Given the description of an element on the screen output the (x, y) to click on. 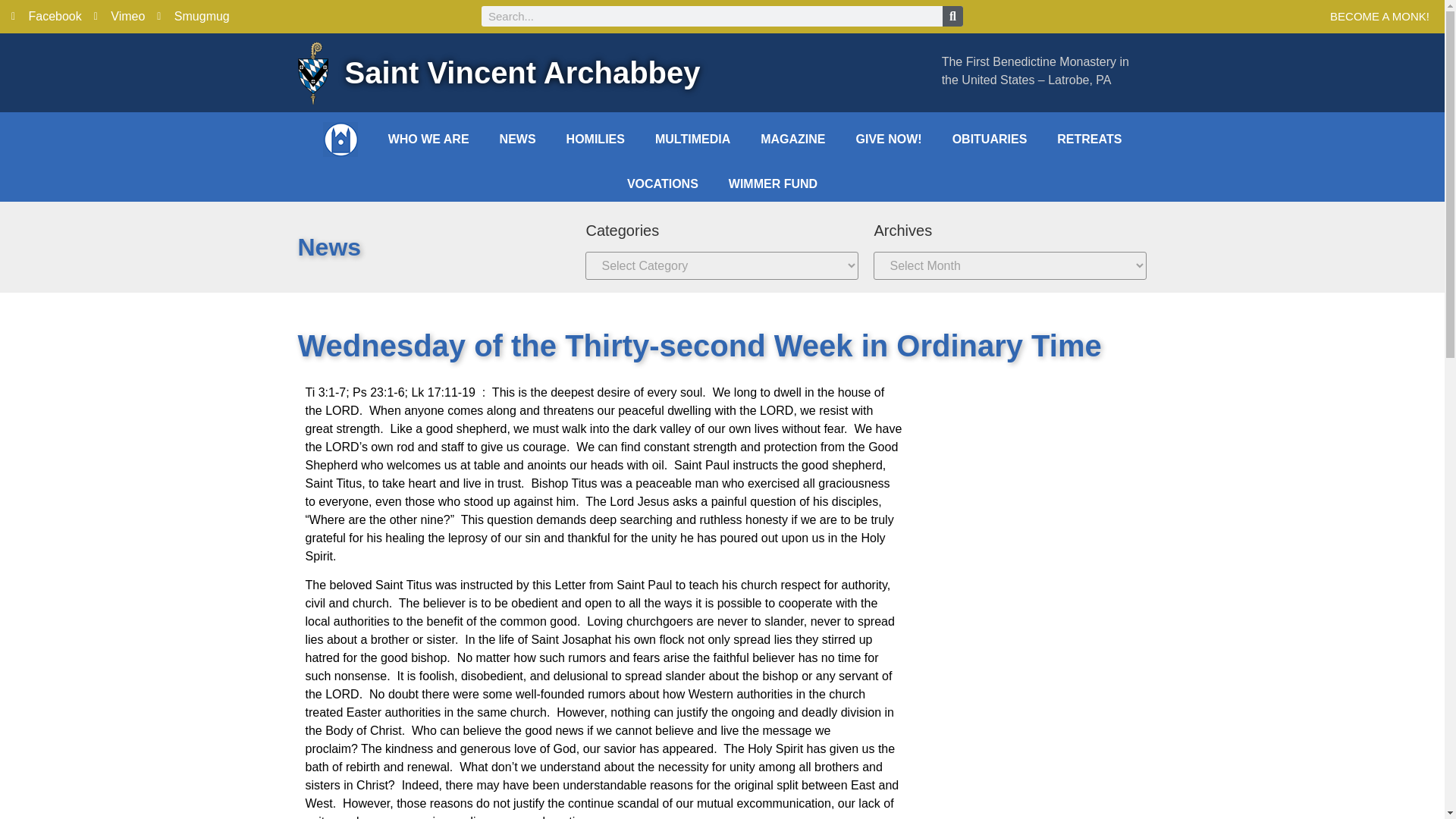
Saint Vincent Archabbey (521, 72)
MAGAZINE (792, 139)
MULTIMEDIA (692, 139)
Smugmug (192, 16)
HOMILIES (595, 139)
Vimeo (119, 16)
WHO WE ARE (428, 139)
OBITUARIES (989, 139)
VOCATIONS (662, 184)
WIMMER FUND (772, 184)
